Given the description of an element on the screen output the (x, y) to click on. 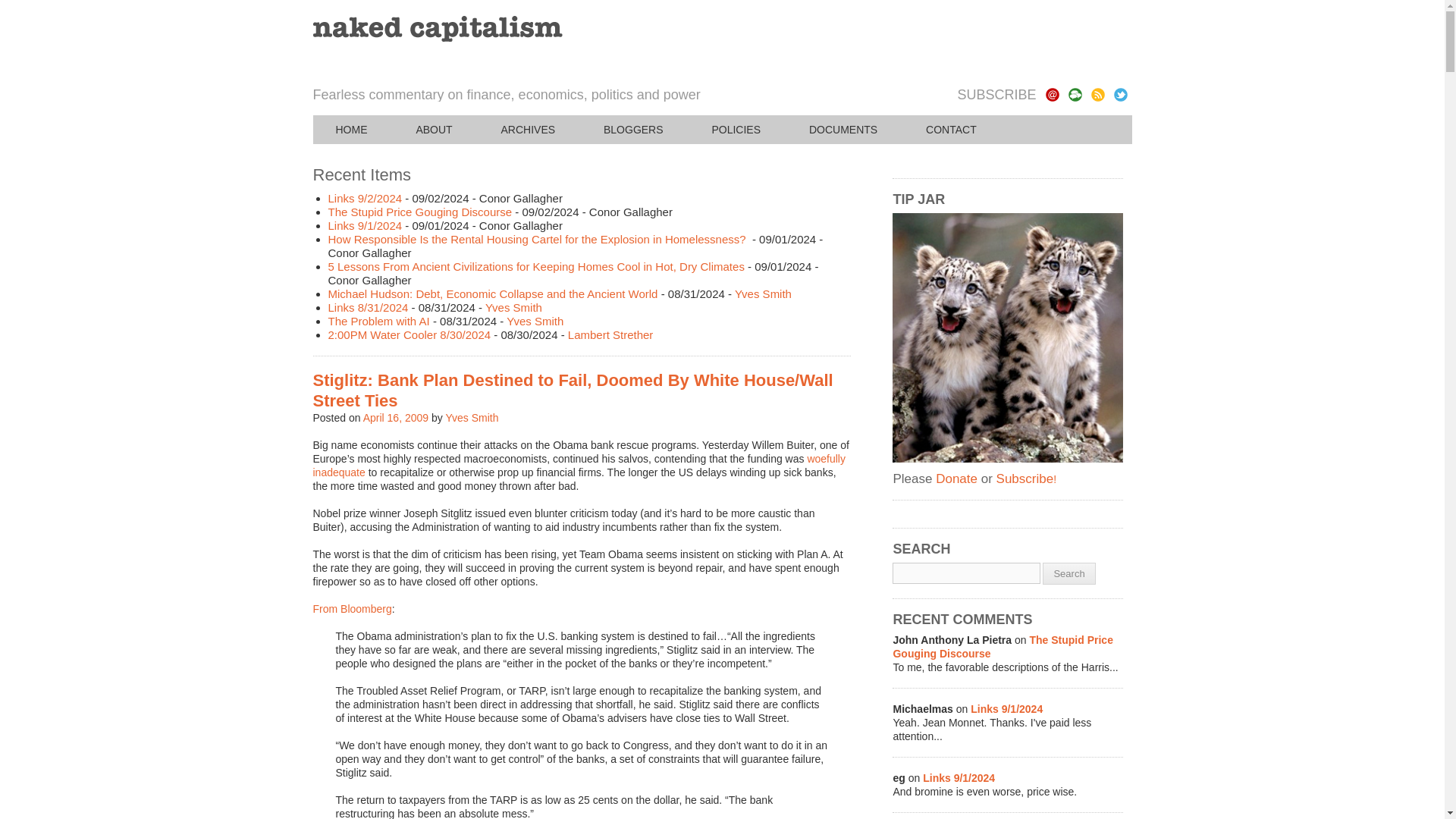
CONTACT (950, 129)
ABOUT (433, 129)
DOCUMENTS (842, 129)
Subscribe to RSS Feed (1096, 94)
Yves Smith (471, 417)
Subscribe via Email (1051, 94)
April 16, 2009 (395, 417)
Yves Smith (763, 293)
Yves Smith (512, 307)
